Given the description of an element on the screen output the (x, y) to click on. 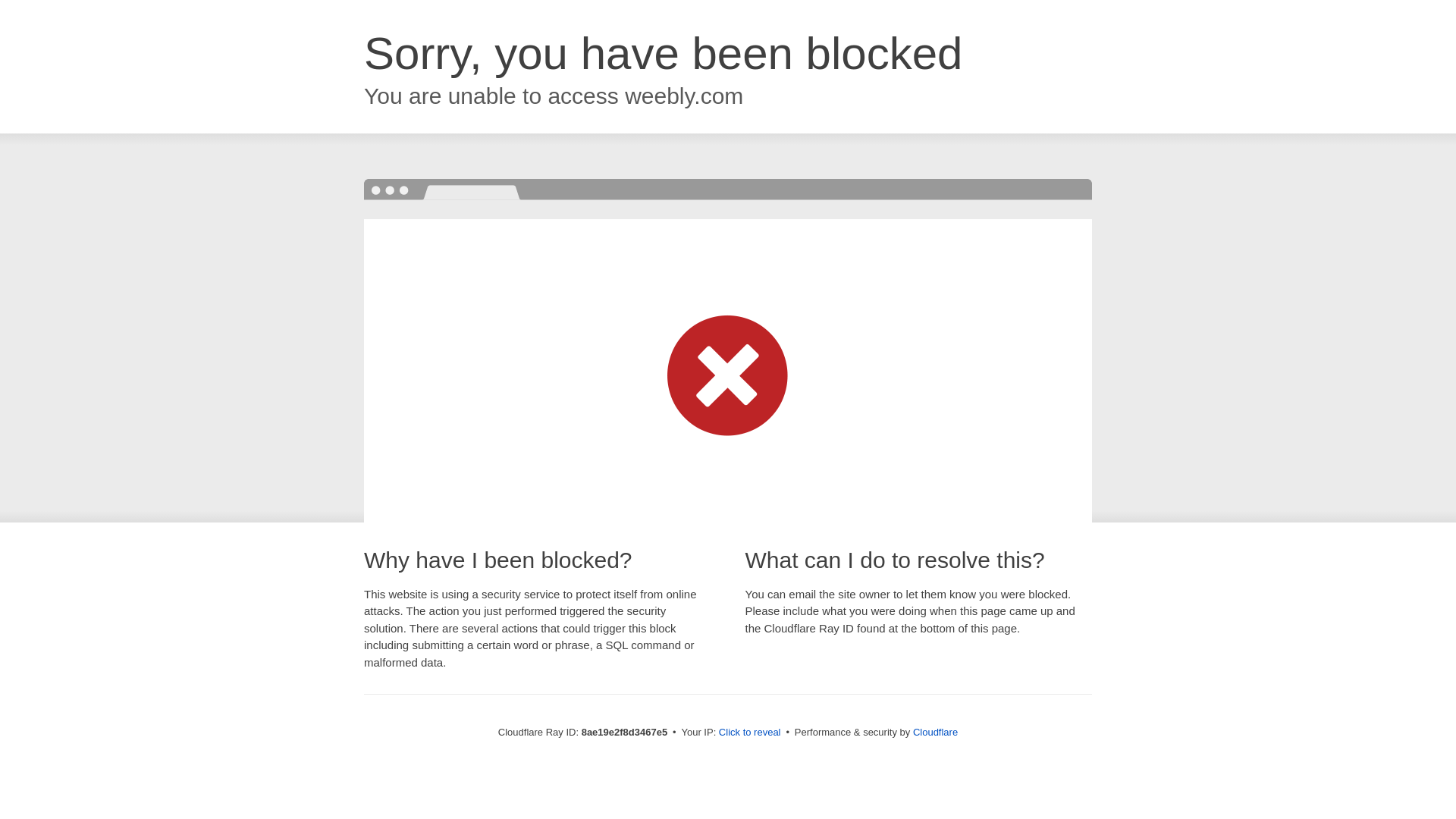
Cloudflare (935, 731)
Click to reveal (749, 732)
